Given the description of an element on the screen output the (x, y) to click on. 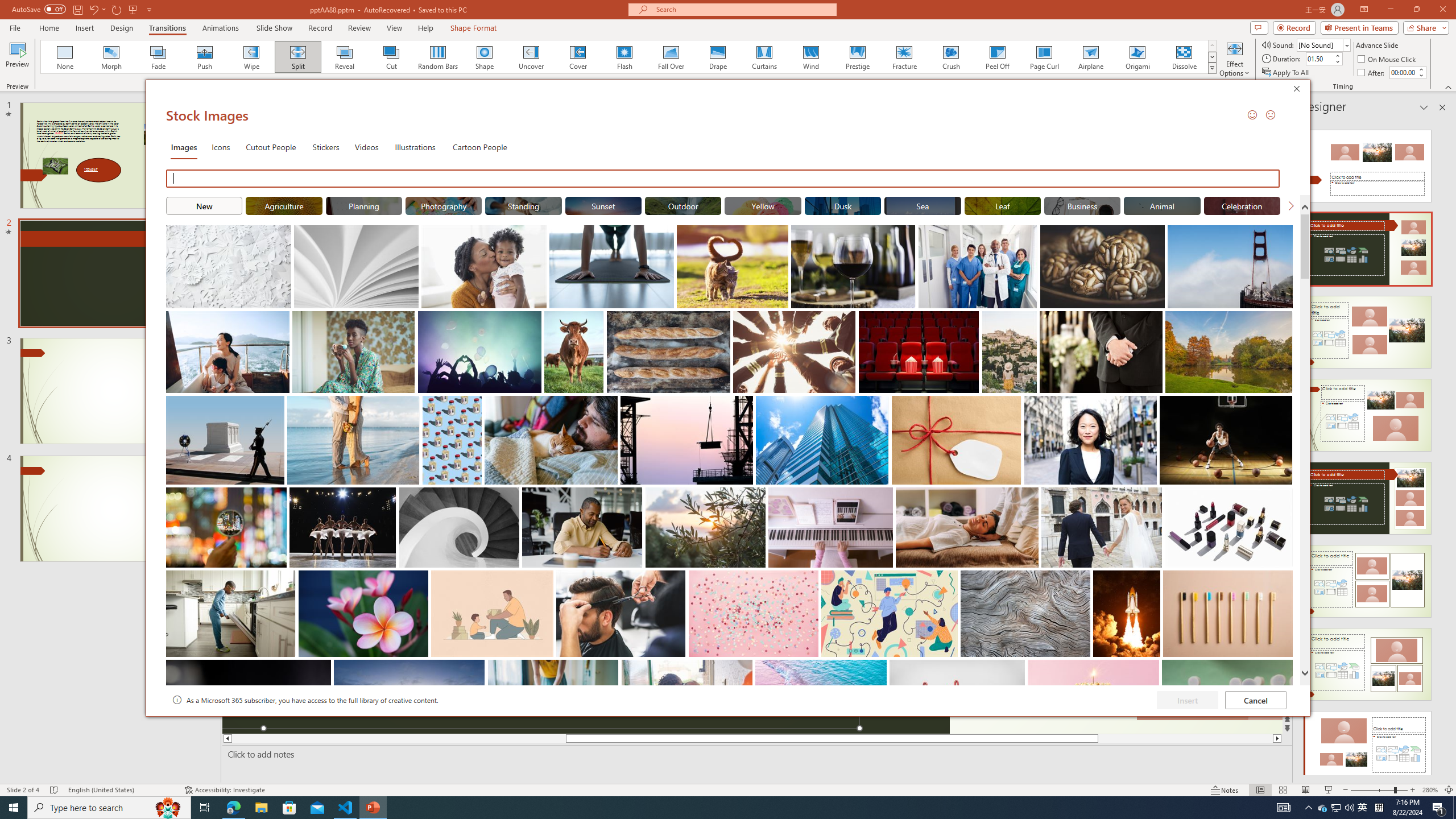
Visual Studio Code - 1 running window (345, 807)
On Mouse Click (1387, 58)
Zoom 280% (1430, 790)
Tray Input Indicator - Chinese (Simplified, China) (1378, 807)
Fade (158, 56)
Cancel (1255, 700)
Cutout People (271, 146)
